Given the description of an element on the screen output the (x, y) to click on. 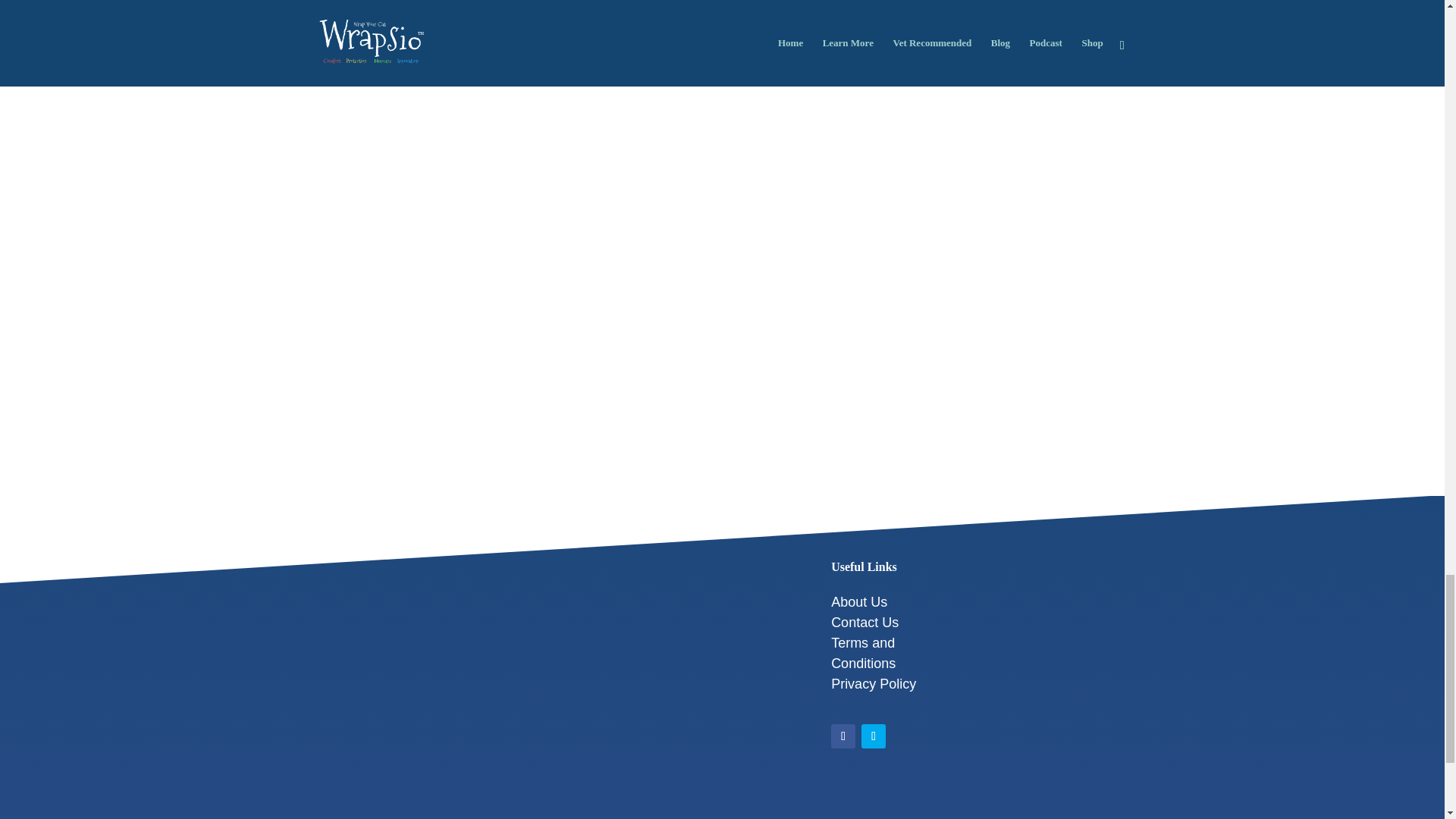
Follow on Facebook (843, 735)
Terms and Conditions (863, 652)
Follow on Twitter (873, 735)
About Us (858, 601)
Contact Us (864, 622)
Privacy Policy (873, 683)
